Given the description of an element on the screen output the (x, y) to click on. 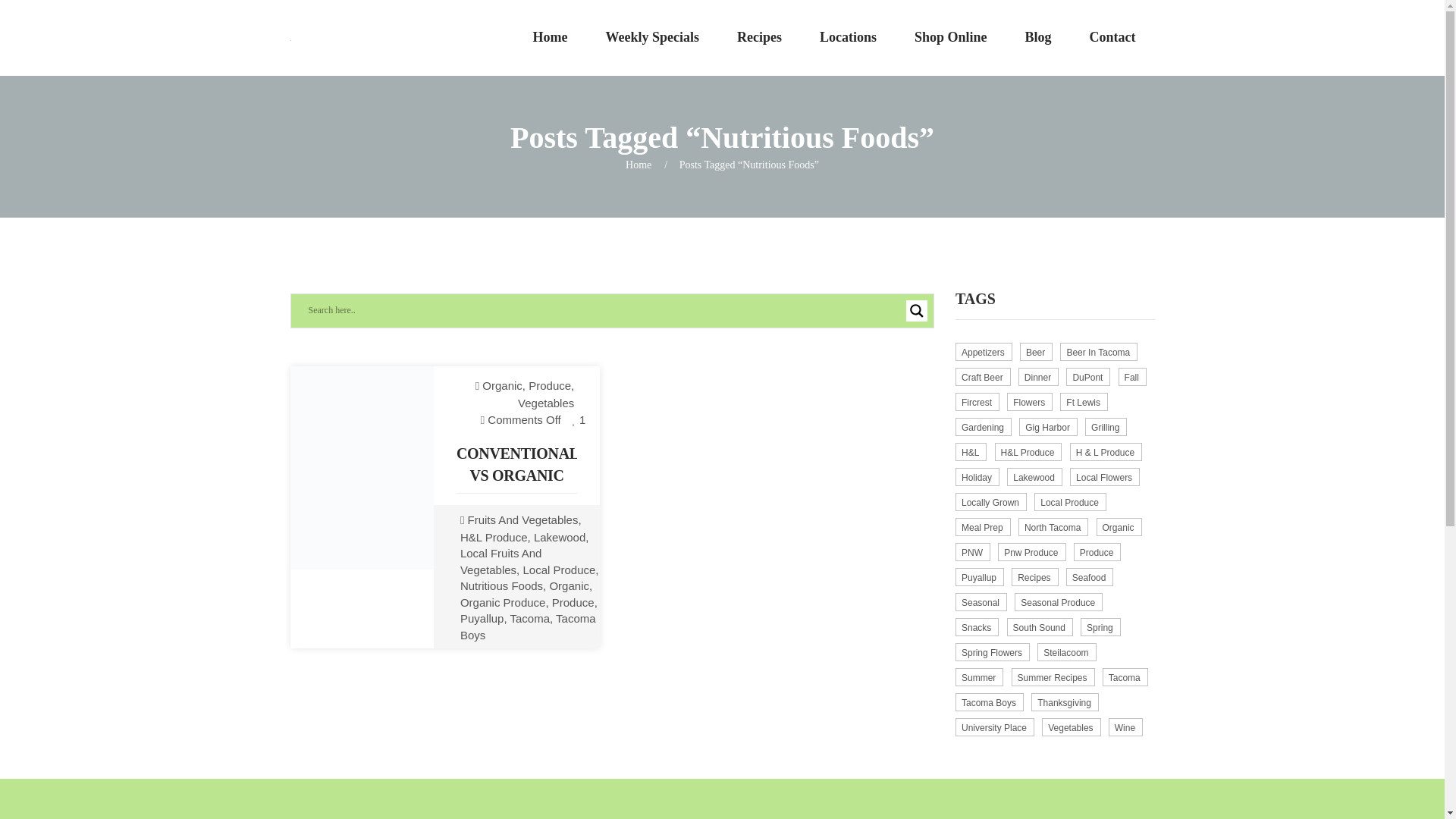
Appetizers (983, 352)
Beer In Tacoma (1098, 352)
Local Fruits And Vegetables (500, 561)
Home (638, 164)
Fall (1132, 376)
0 (579, 419)
Shop Online (950, 38)
Nutritious Foods (501, 585)
Organic Produce (503, 602)
Organic (568, 585)
